Given the description of an element on the screen output the (x, y) to click on. 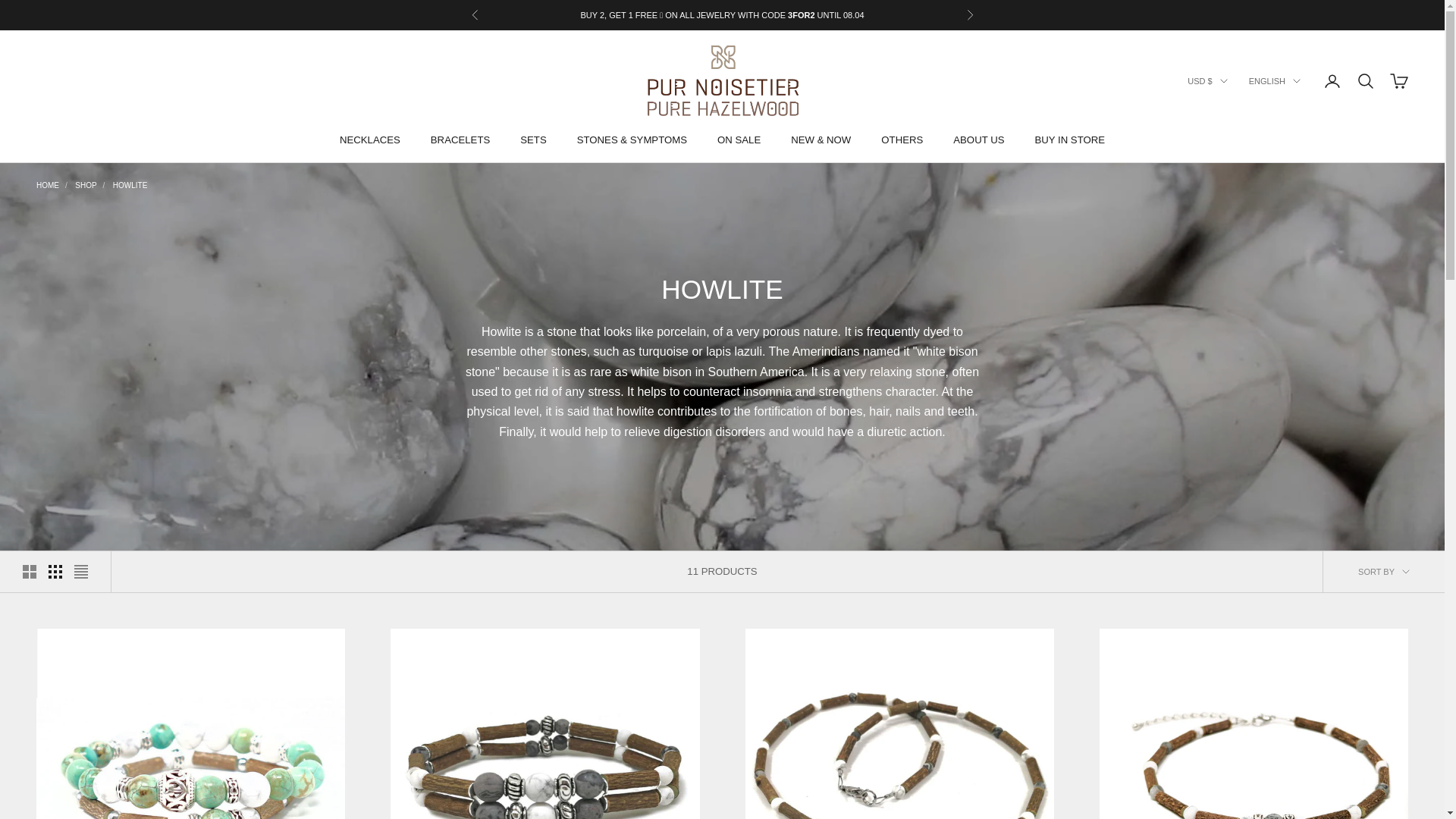
Previous (474, 15)
Next (968, 15)
